Given the description of an element on the screen output the (x, y) to click on. 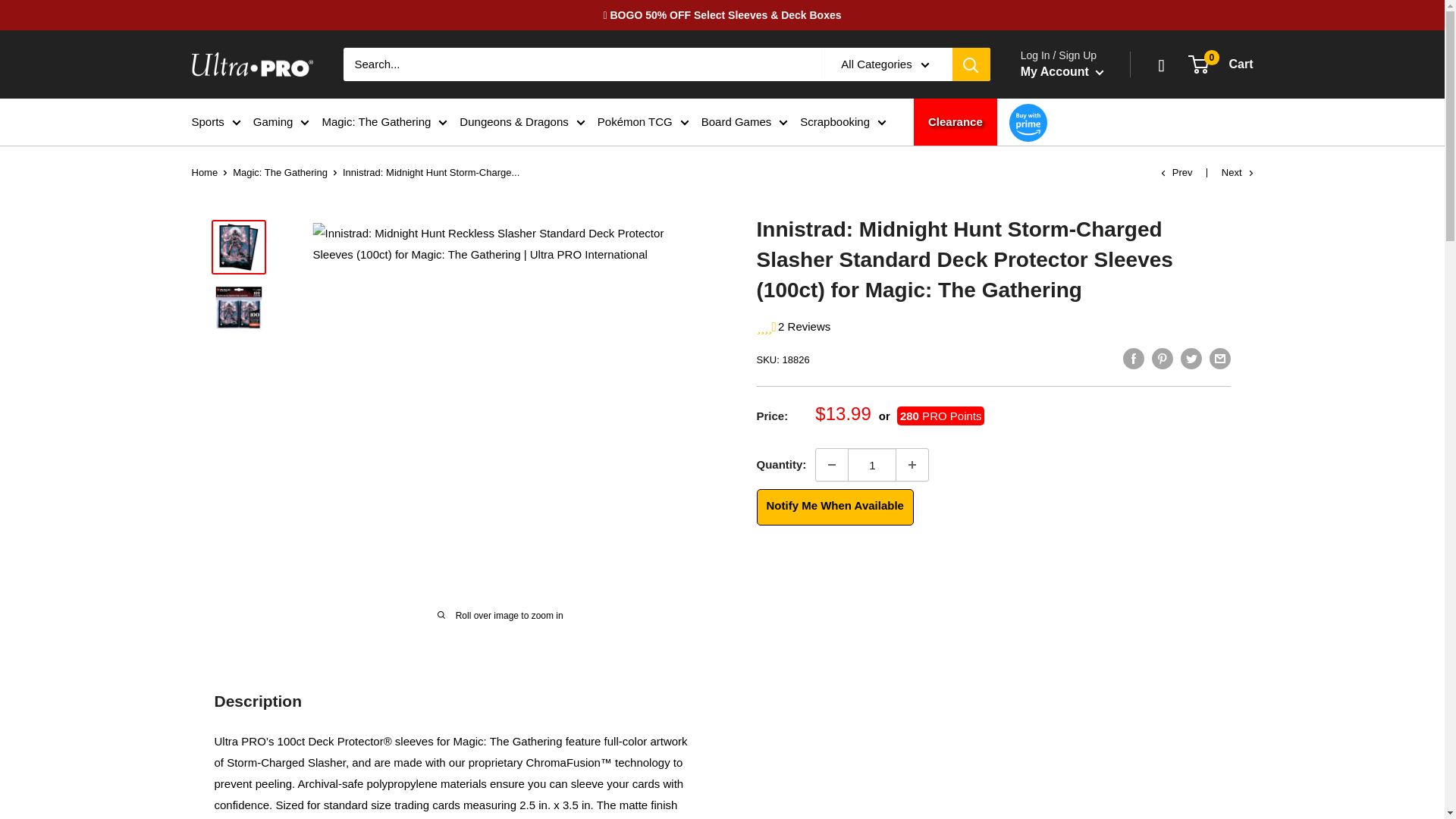
Increase quantity by 1 (912, 464)
1 (871, 464)
Decrease quantity by 1 (831, 464)
